Given the description of an element on the screen output the (x, y) to click on. 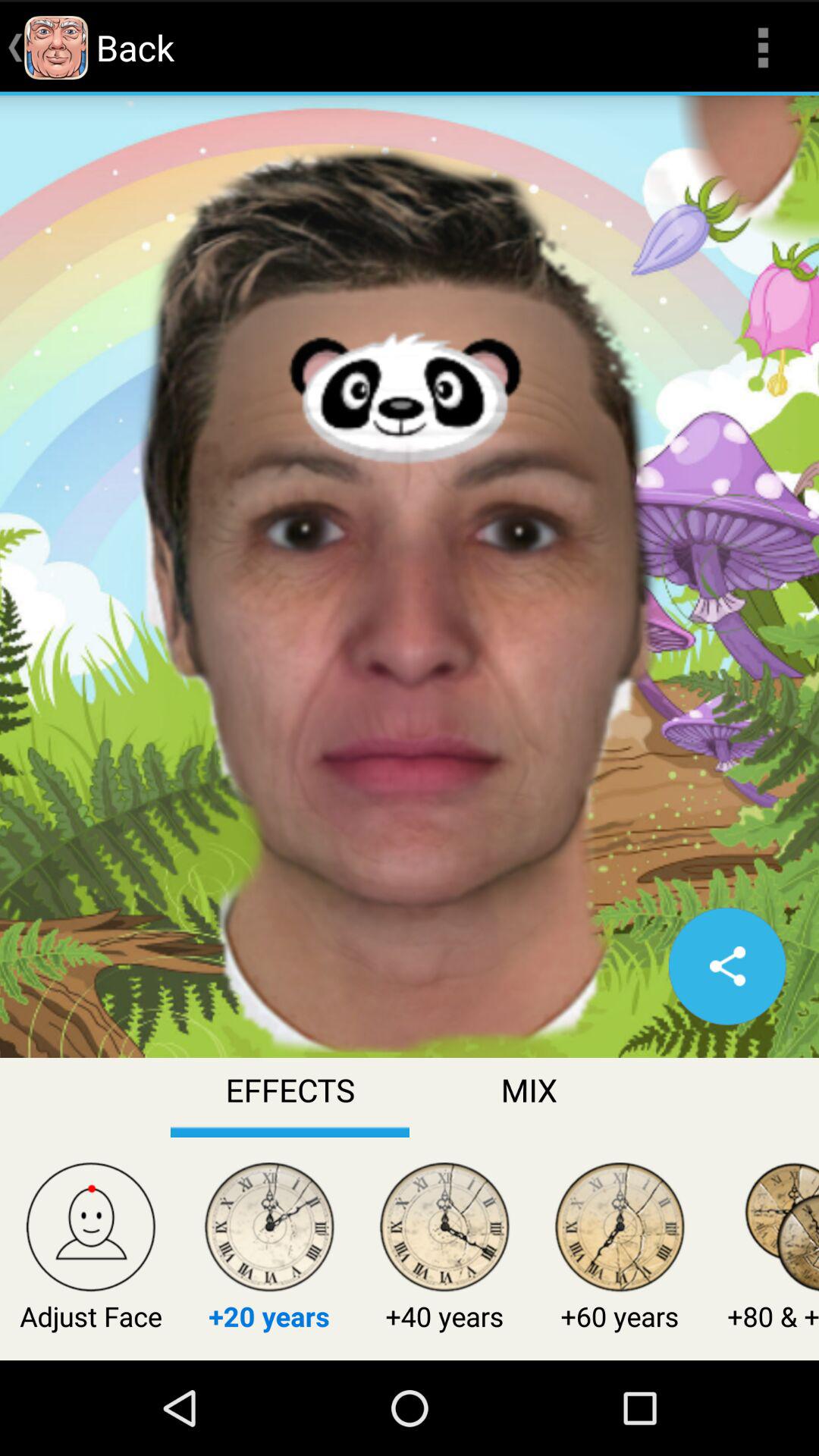
share photo (727, 966)
